Given the description of an element on the screen output the (x, y) to click on. 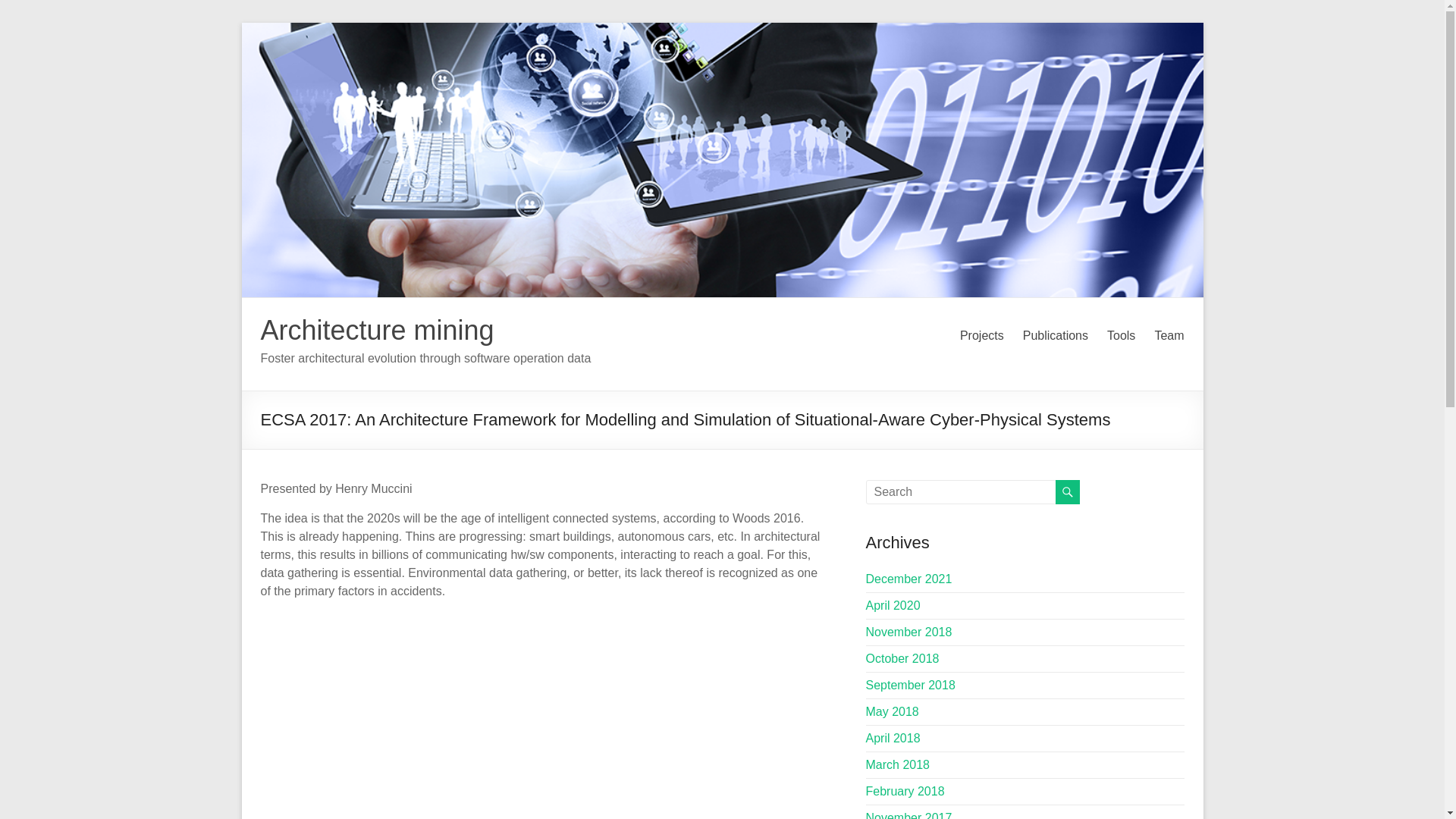
Team (1168, 335)
April 2018 (893, 738)
March 2018 (898, 764)
May 2018 (892, 711)
October 2018 (902, 658)
Architecture mining (377, 329)
December 2021 (909, 578)
Architecture mining (377, 329)
Projects (981, 335)
November 2017 (909, 815)
Tools (1120, 335)
April 2020 (893, 604)
Publications (1055, 335)
September 2018 (910, 684)
